Given the description of an element on the screen output the (x, y) to click on. 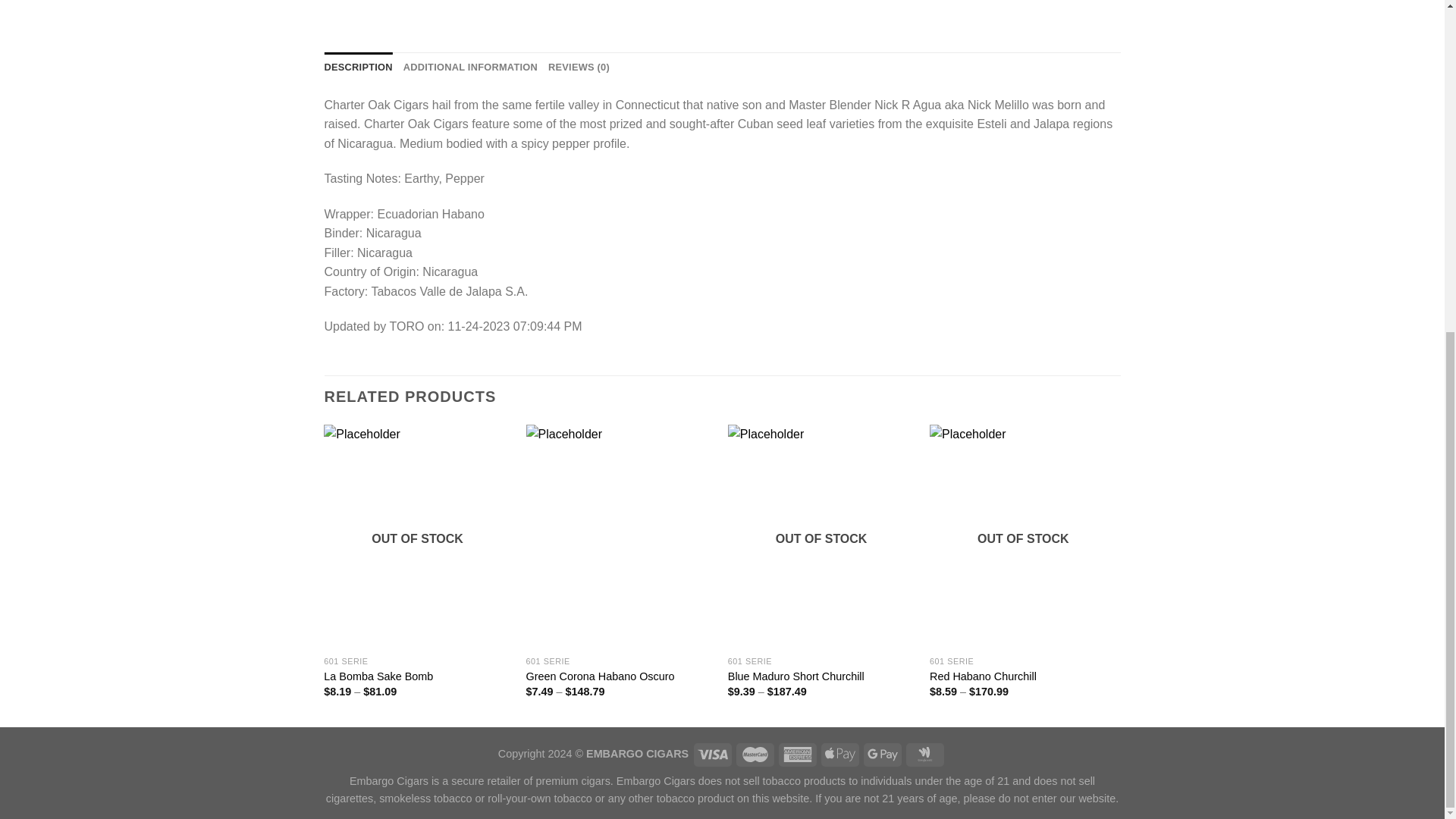
DESCRIPTION (358, 67)
ADDITIONAL INFORMATION (470, 67)
